Given the description of an element on the screen output the (x, y) to click on. 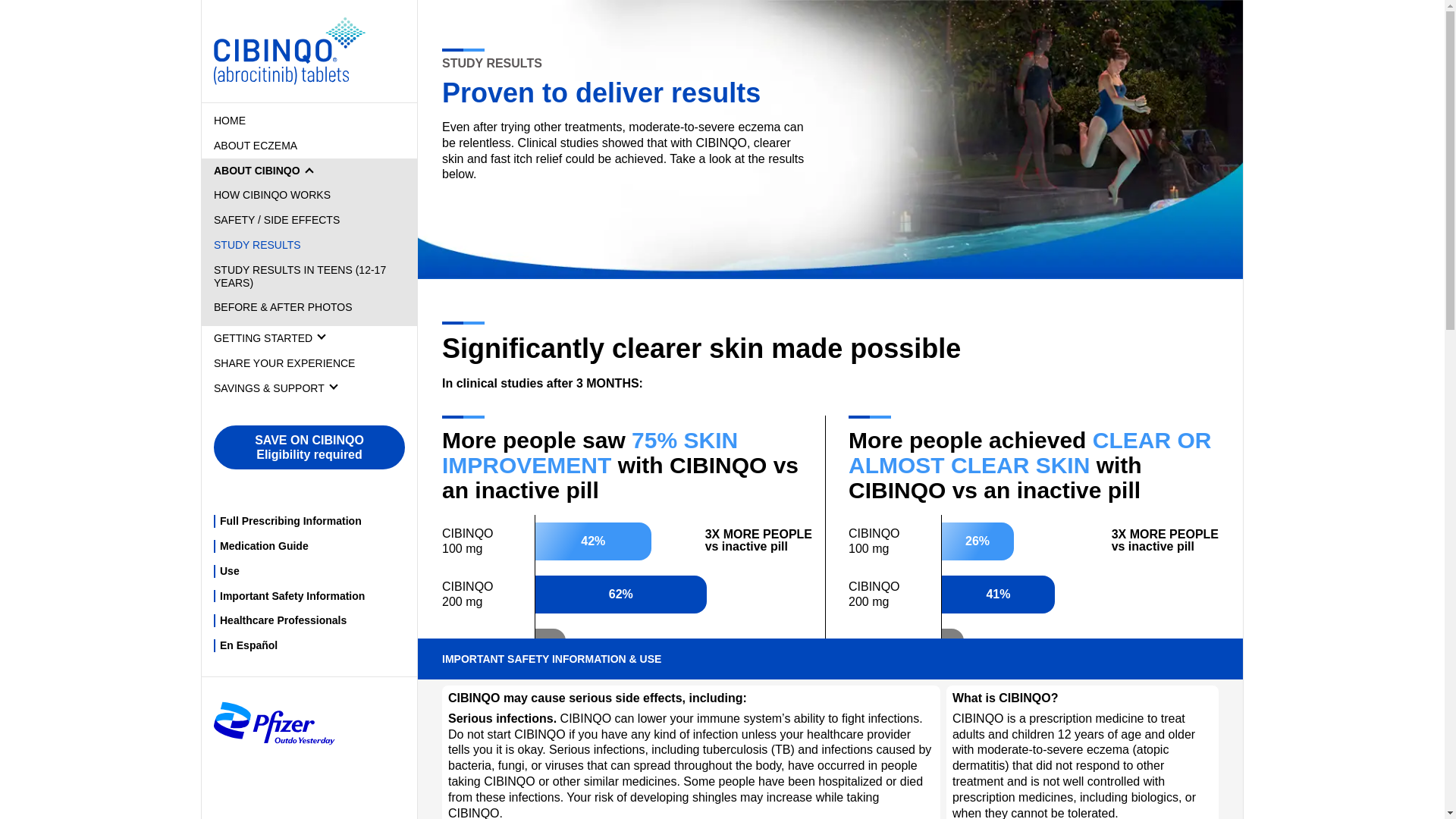
Use (229, 571)
ABOUT CIBINQO (309, 242)
HOW CIBINQO WORKS (272, 194)
Medication Guide (263, 545)
Healthcare Professionals (282, 620)
SHARE YOUR EXPERIENCE (284, 363)
HOME (230, 120)
ABOUT ECZEMA (255, 145)
Full Prescribing Information (290, 521)
STUDY RESULTS (257, 244)
GETTING STARTED (309, 338)
Important Safety Information (292, 595)
